Given the description of an element on the screen output the (x, y) to click on. 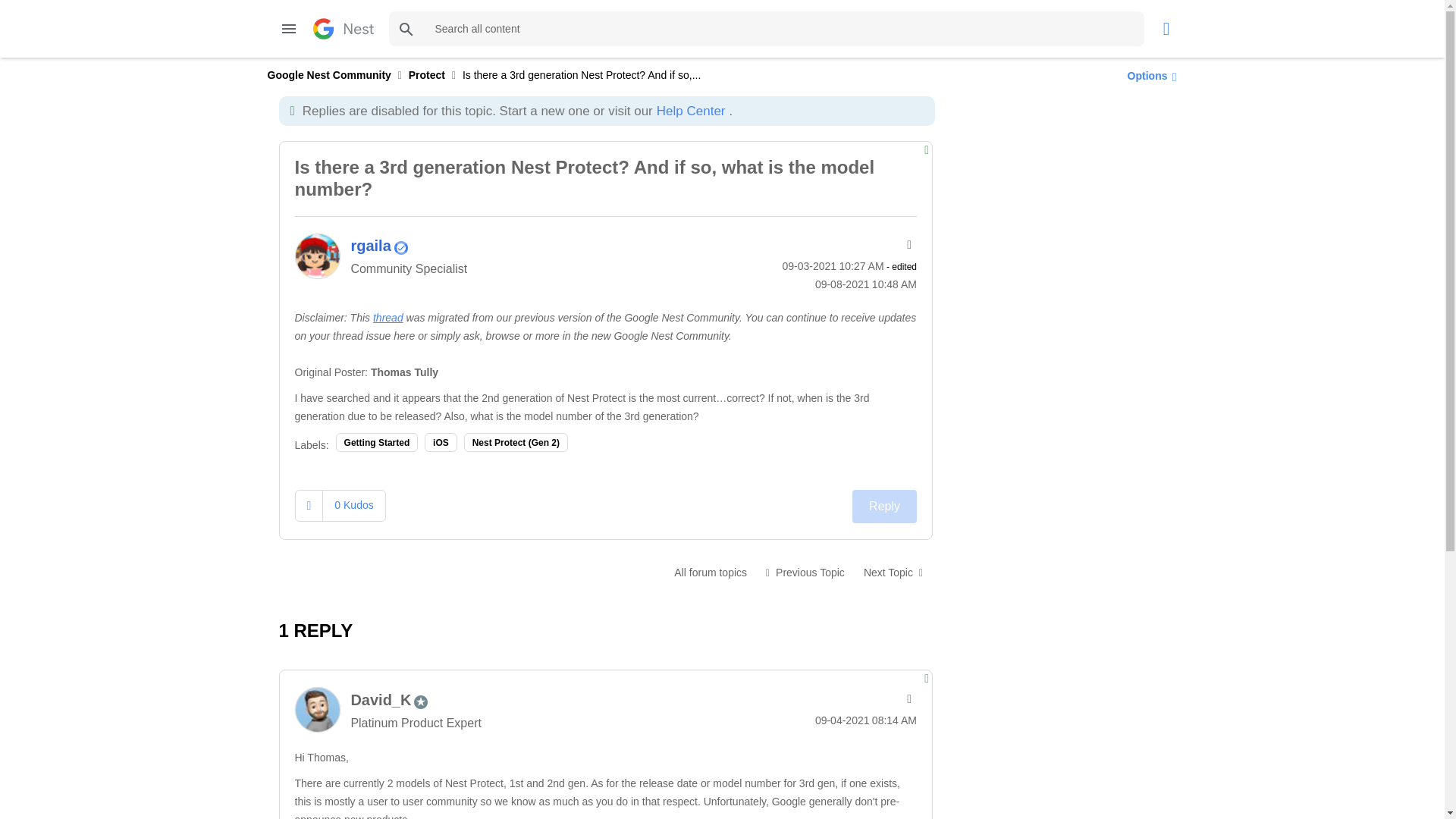
thread (387, 317)
Community Specialist (400, 247)
Getting Started (377, 442)
Protect (427, 74)
Platinum Product Expert (420, 702)
Google Nest Community (342, 28)
Search (405, 29)
Google Nest Community (328, 74)
Nest Protect (710, 572)
Click here to give kudos to this post. (309, 505)
rgaila (316, 256)
Search (765, 28)
Search (405, 29)
Search (405, 29)
Recycling Nest Protect in Canada (893, 572)
